Given the description of an element on the screen output the (x, y) to click on. 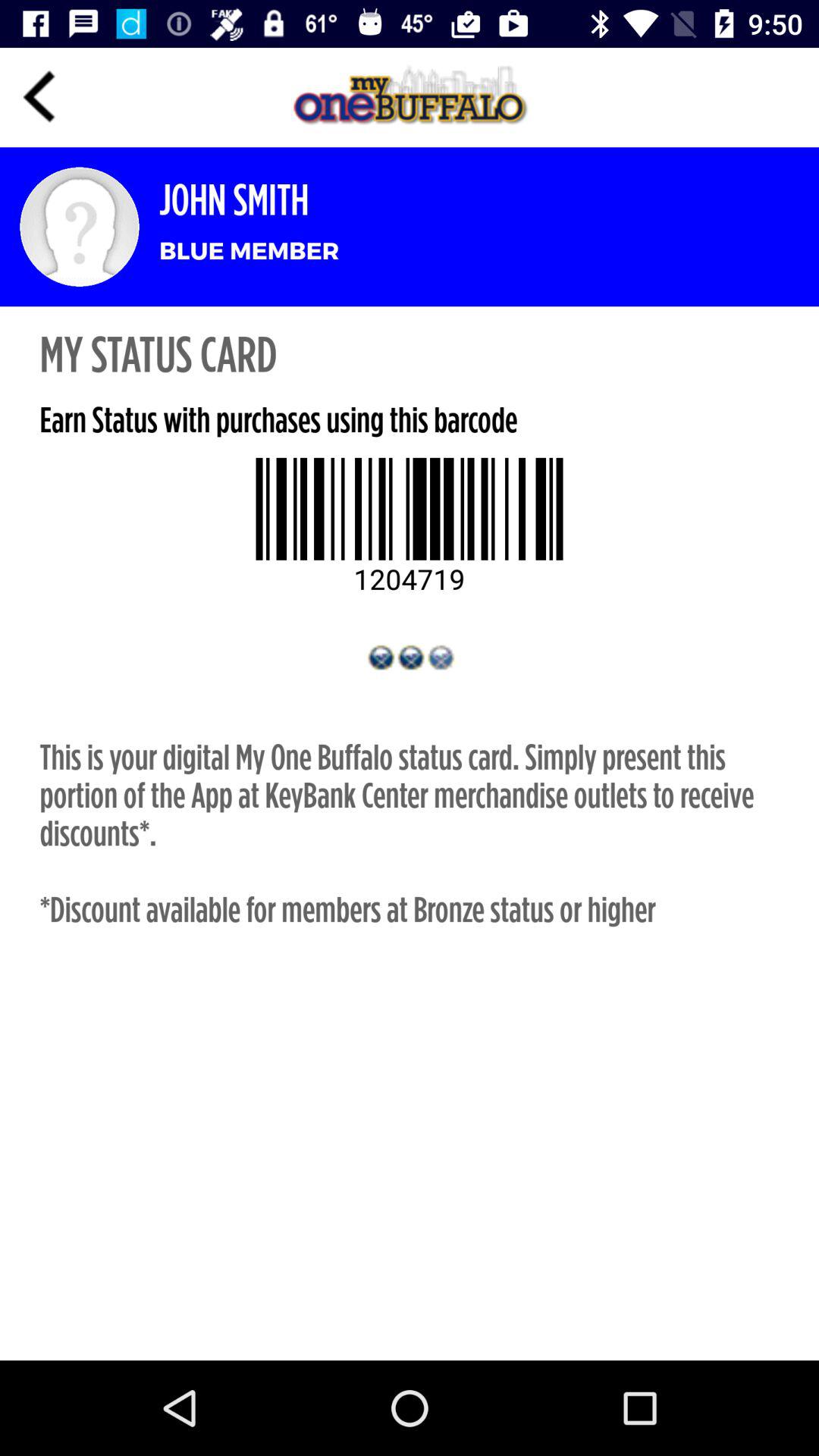
go to back (39, 97)
